Given the description of an element on the screen output the (x, y) to click on. 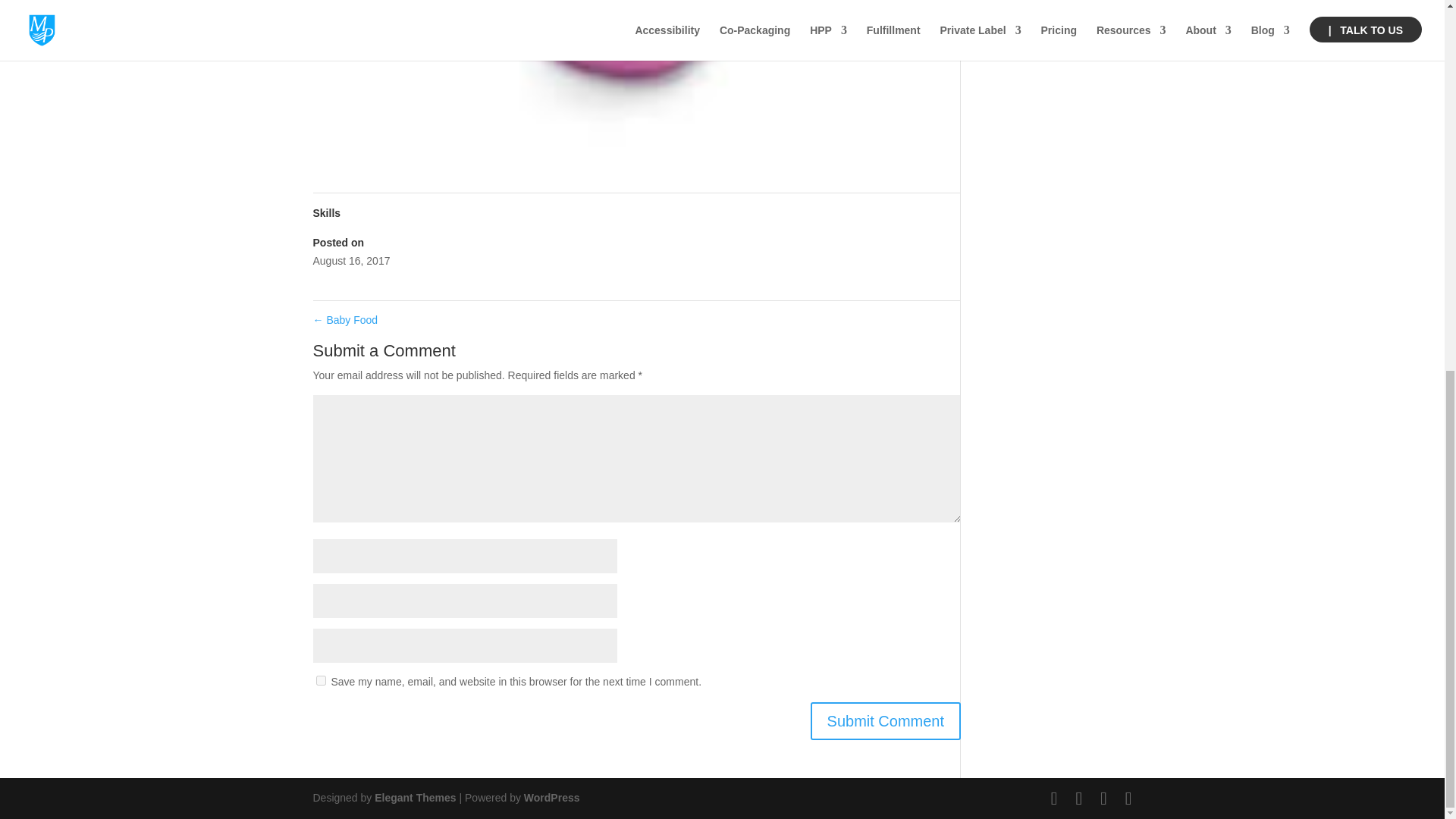
Submit Comment (885, 720)
Premium WordPress Themes (414, 797)
yes (319, 680)
